Given the description of an element on the screen output the (x, y) to click on. 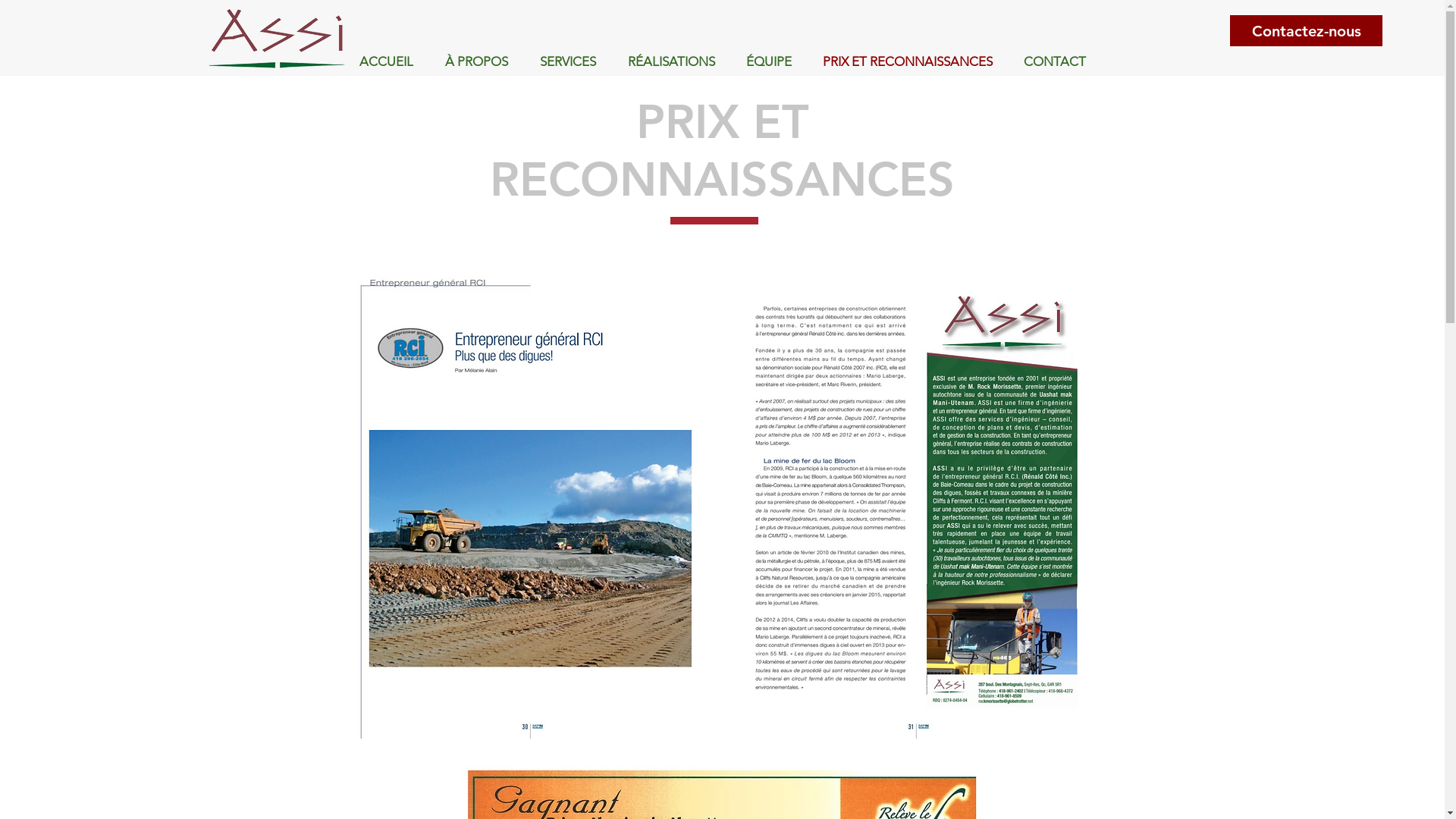
Contactez-nous Element type: text (1306, 30)
ACCUEIL Element type: text (385, 61)
PRIX ET RECONNAISSANCES Element type: text (906, 61)
CONTACT Element type: text (1054, 61)
SERVICES Element type: text (567, 61)
